Given the description of an element on the screen output the (x, y) to click on. 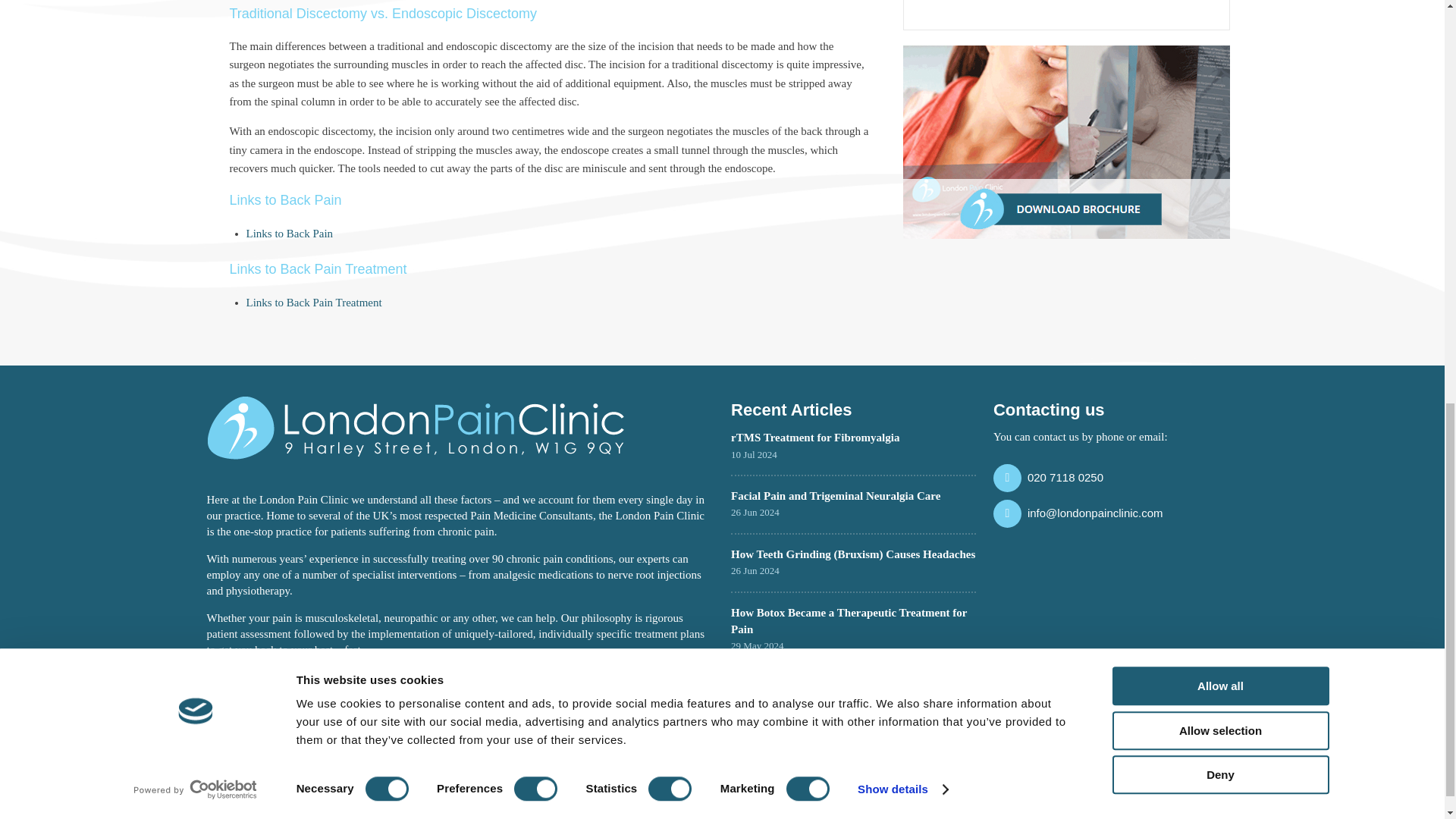
Links to Back Pain Treatment (313, 302)
Links to Back Pain (289, 233)
How Botox Became a Therapeutic Treatment for Pain (848, 620)
rTMS Treatment for Fibromyalgia (814, 437)
Facial Pain and Trigeminal Neuralgia Care (835, 495)
